Given the description of an element on the screen output the (x, y) to click on. 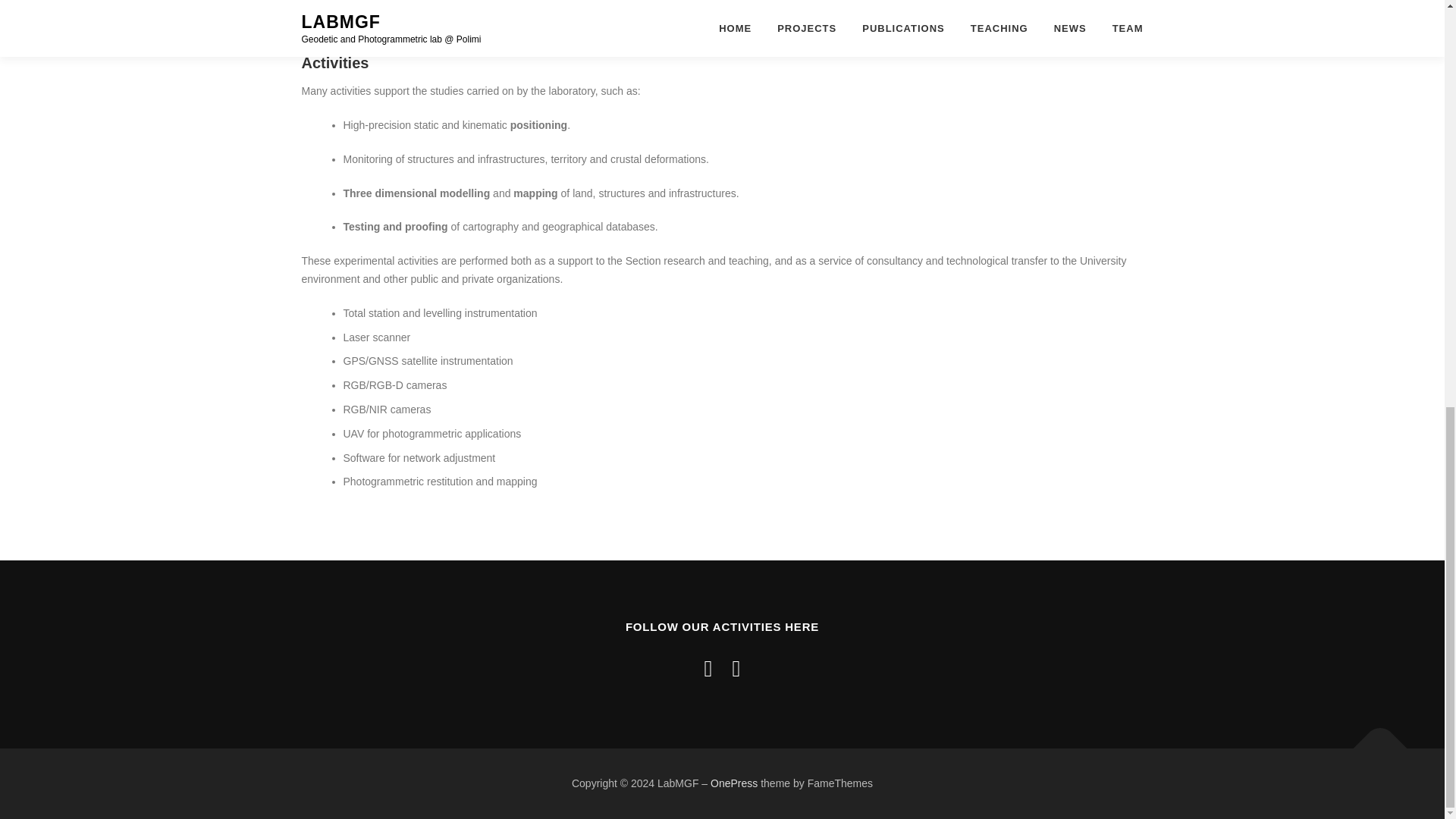
OnePress (733, 783)
